Given the description of an element on the screen output the (x, y) to click on. 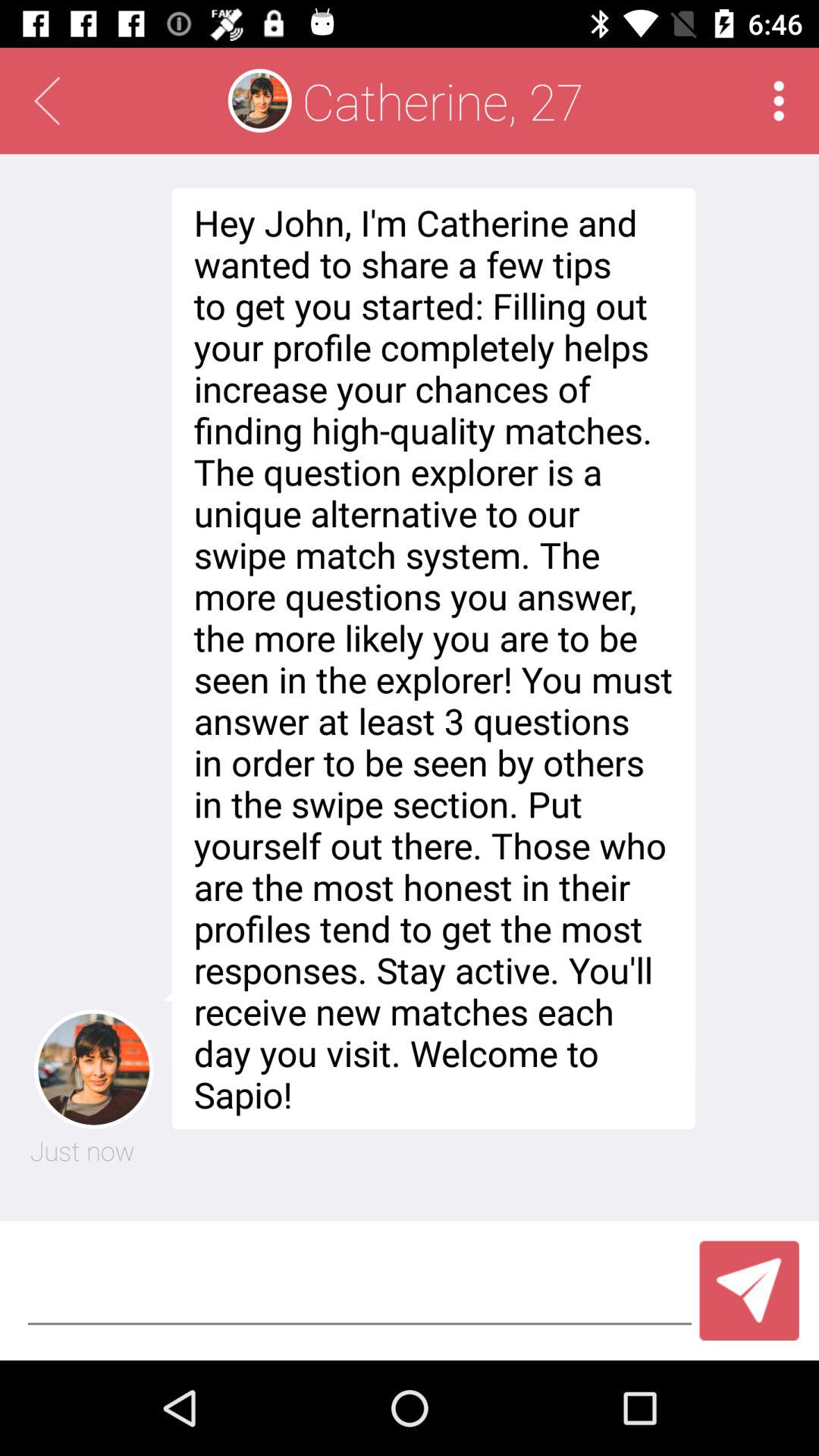
message box (359, 1290)
